Given the description of an element on the screen output the (x, y) to click on. 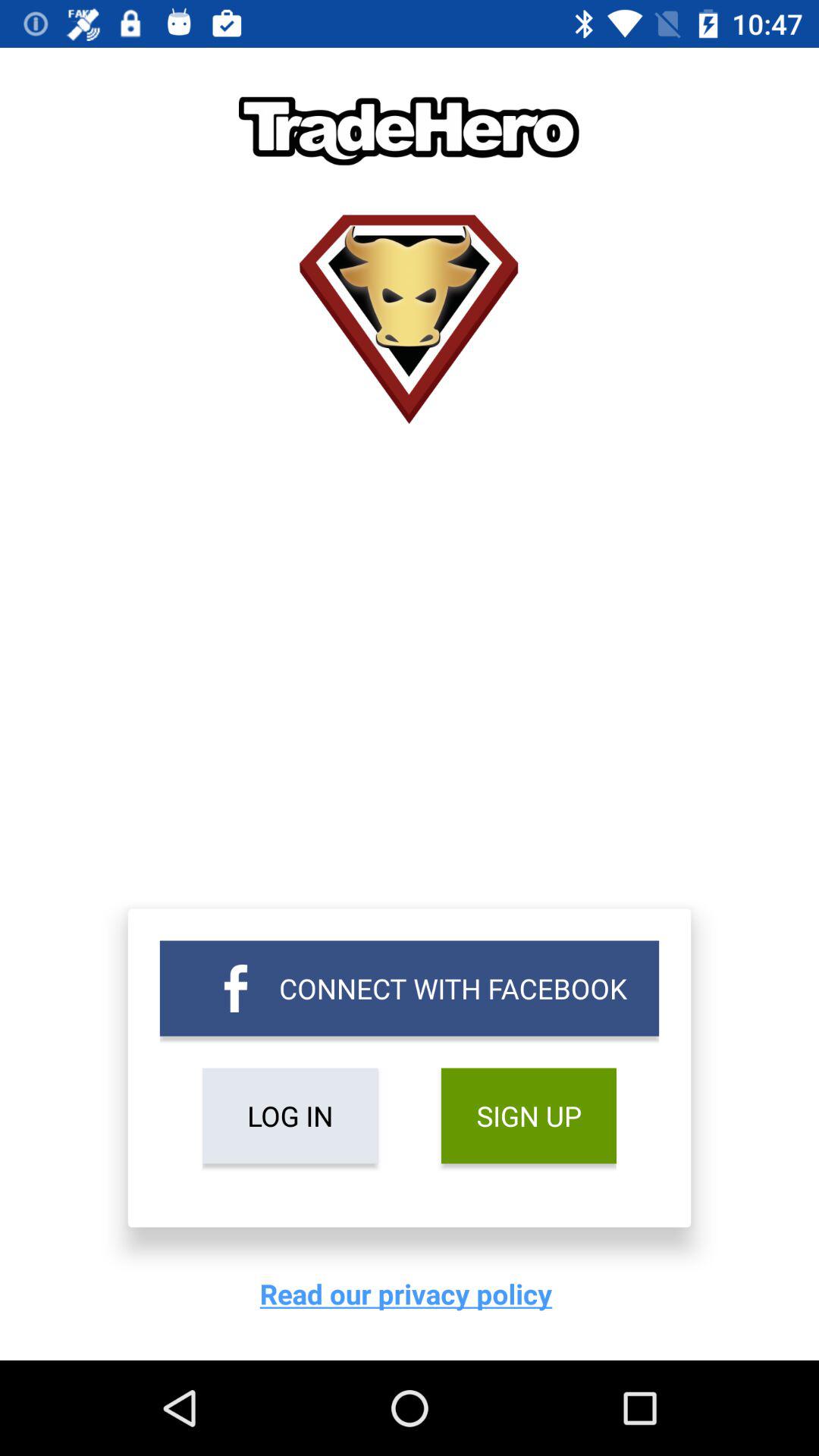
choose the item below the log in item (409, 1293)
